Given the description of an element on the screen output the (x, y) to click on. 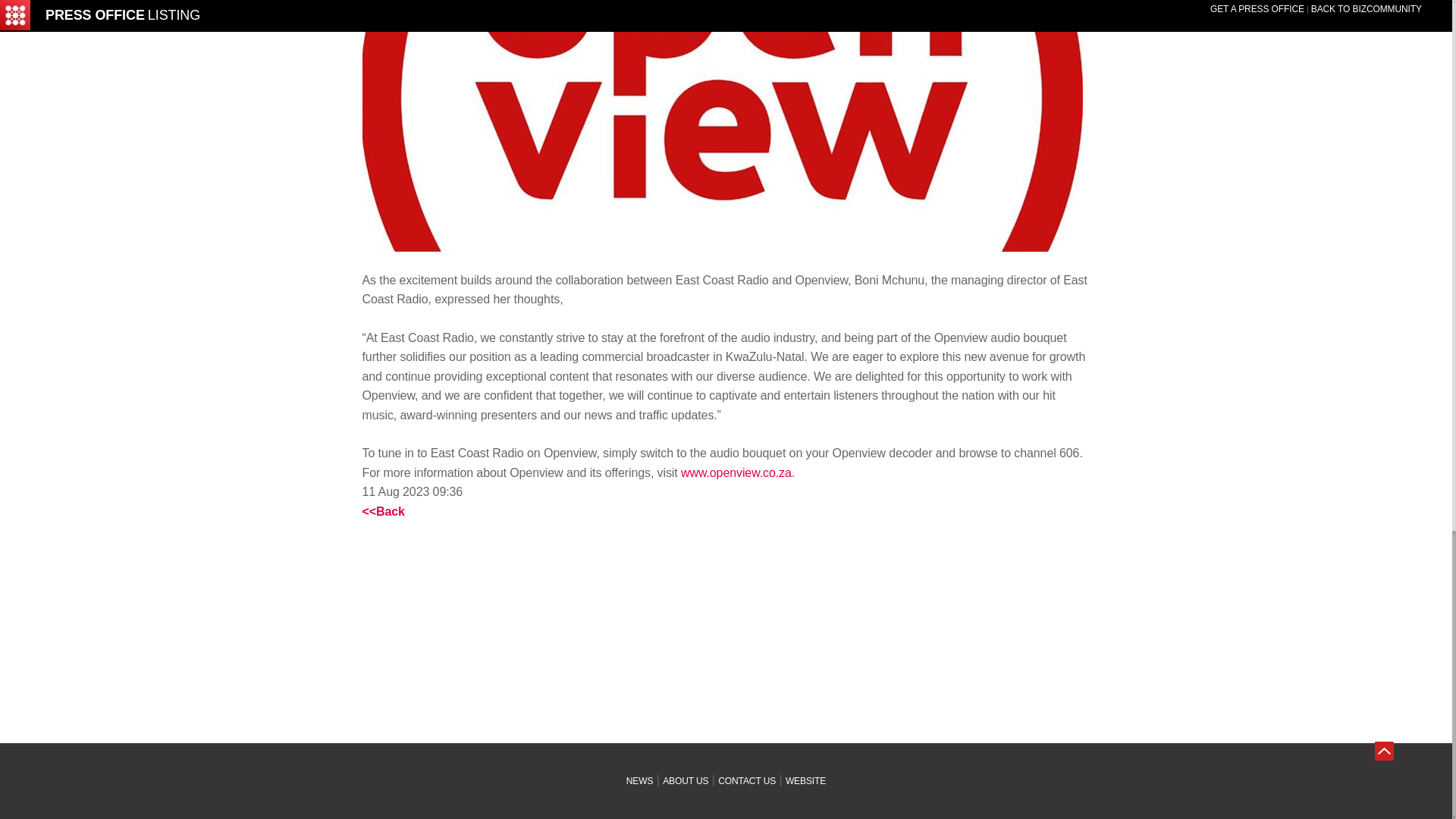
www.openview.co.za (736, 472)
